Given the description of an element on the screen output the (x, y) to click on. 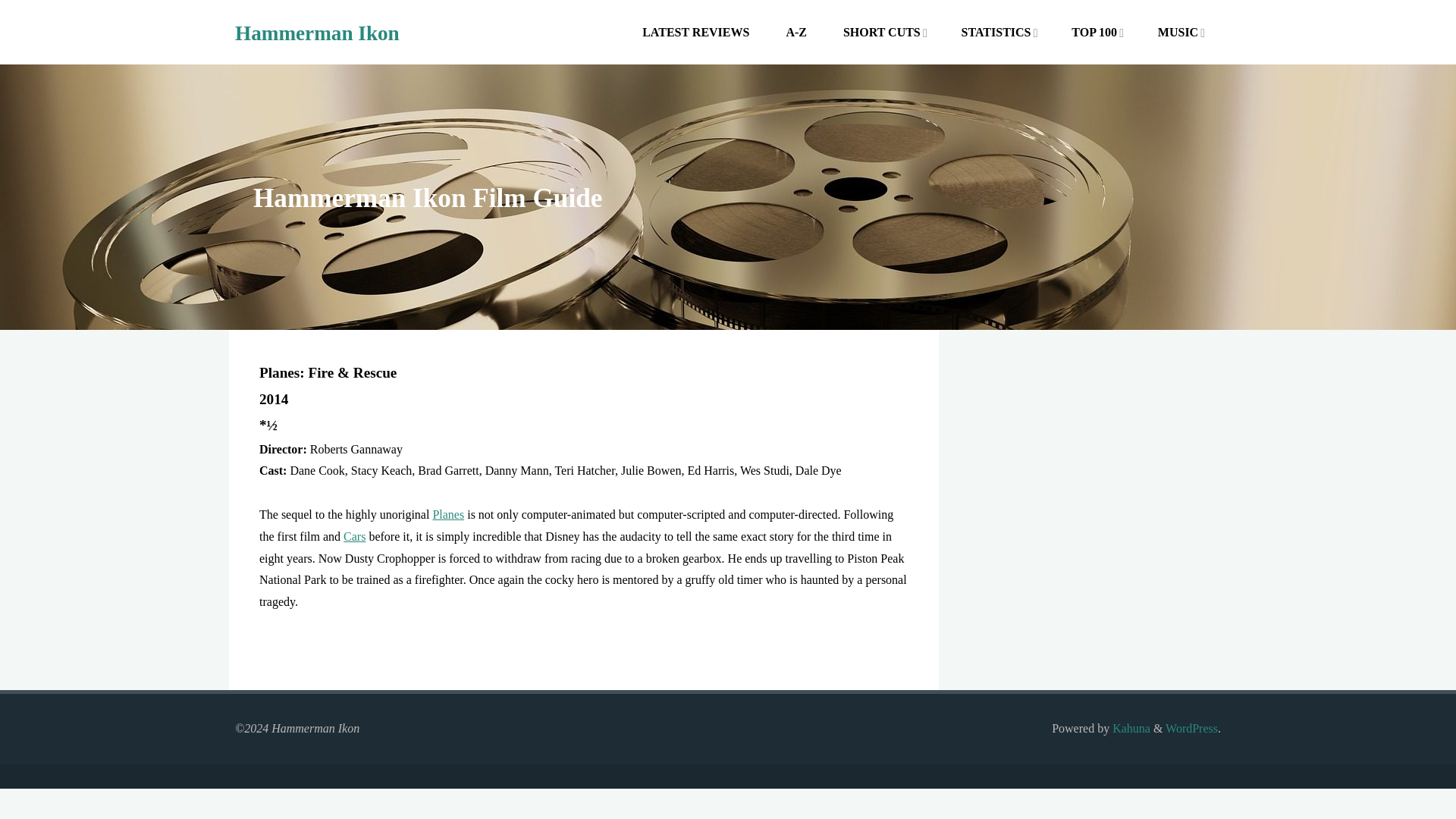
Semantic Personal Publishing Platform (1191, 727)
LATEST REVIEWS (696, 32)
Kahuna WordPress Theme by Cryout Creations (1129, 727)
Hammerman Ikon (316, 33)
STATISTICS (995, 32)
SHORT CUTS (882, 32)
